Given the description of an element on the screen output the (x, y) to click on. 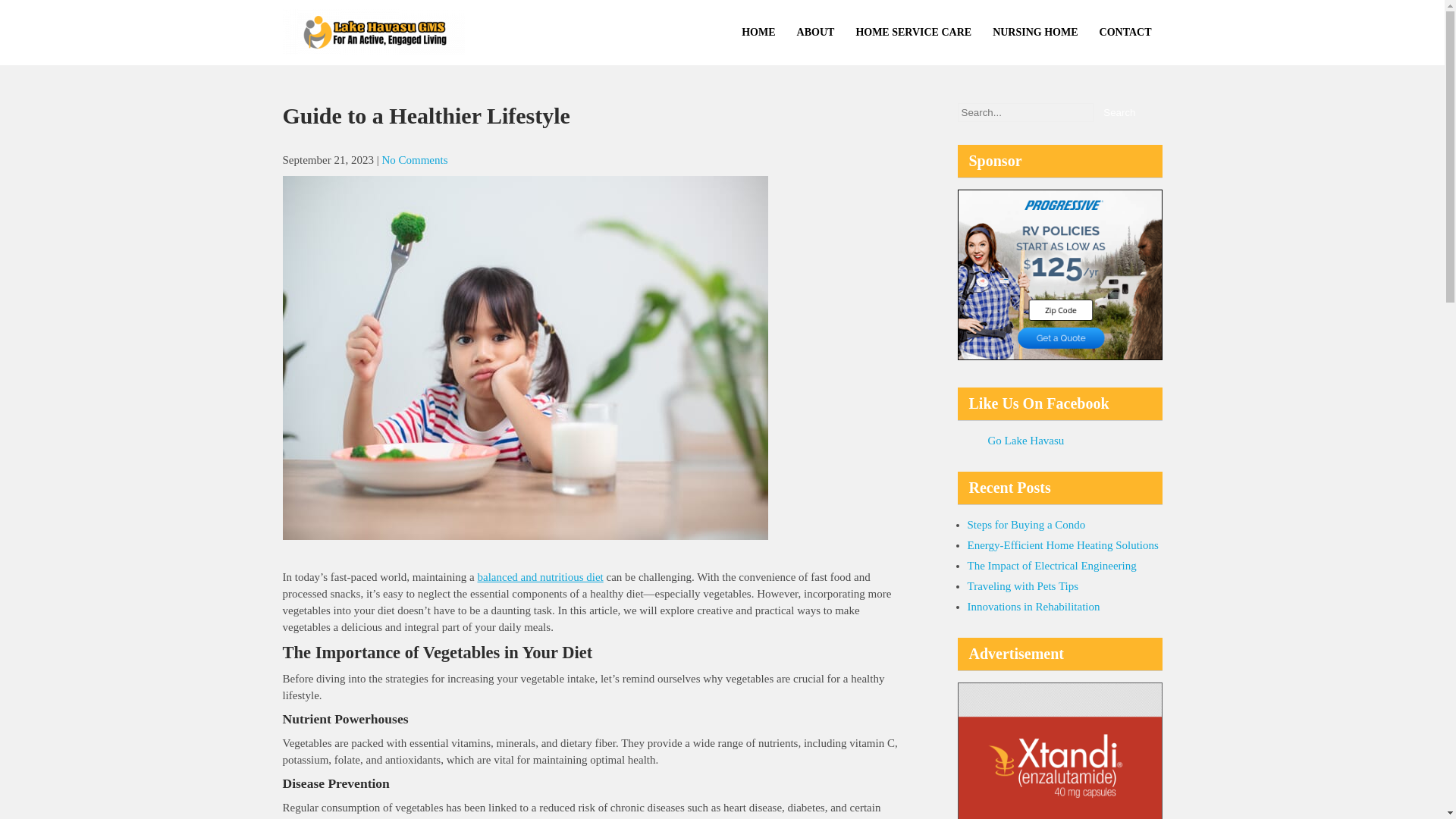
Traveling with Pets Tips (1023, 585)
Search (1119, 112)
HOME SERVICE CARE (912, 32)
CONTACT (1125, 32)
Search (1119, 112)
Steps for Buying a Condo (1027, 524)
Energy-Efficient Home Heating Solutions (1063, 544)
NURSING HOME (1034, 32)
balanced and nutritious diet (540, 576)
No Comments (413, 159)
The Impact of Electrical Engineering (1052, 565)
Go Lake Havasu (1025, 440)
ABOUT (815, 32)
Innovations in Rehabilitation (1034, 606)
Search (1119, 112)
